Given the description of an element on the screen output the (x, y) to click on. 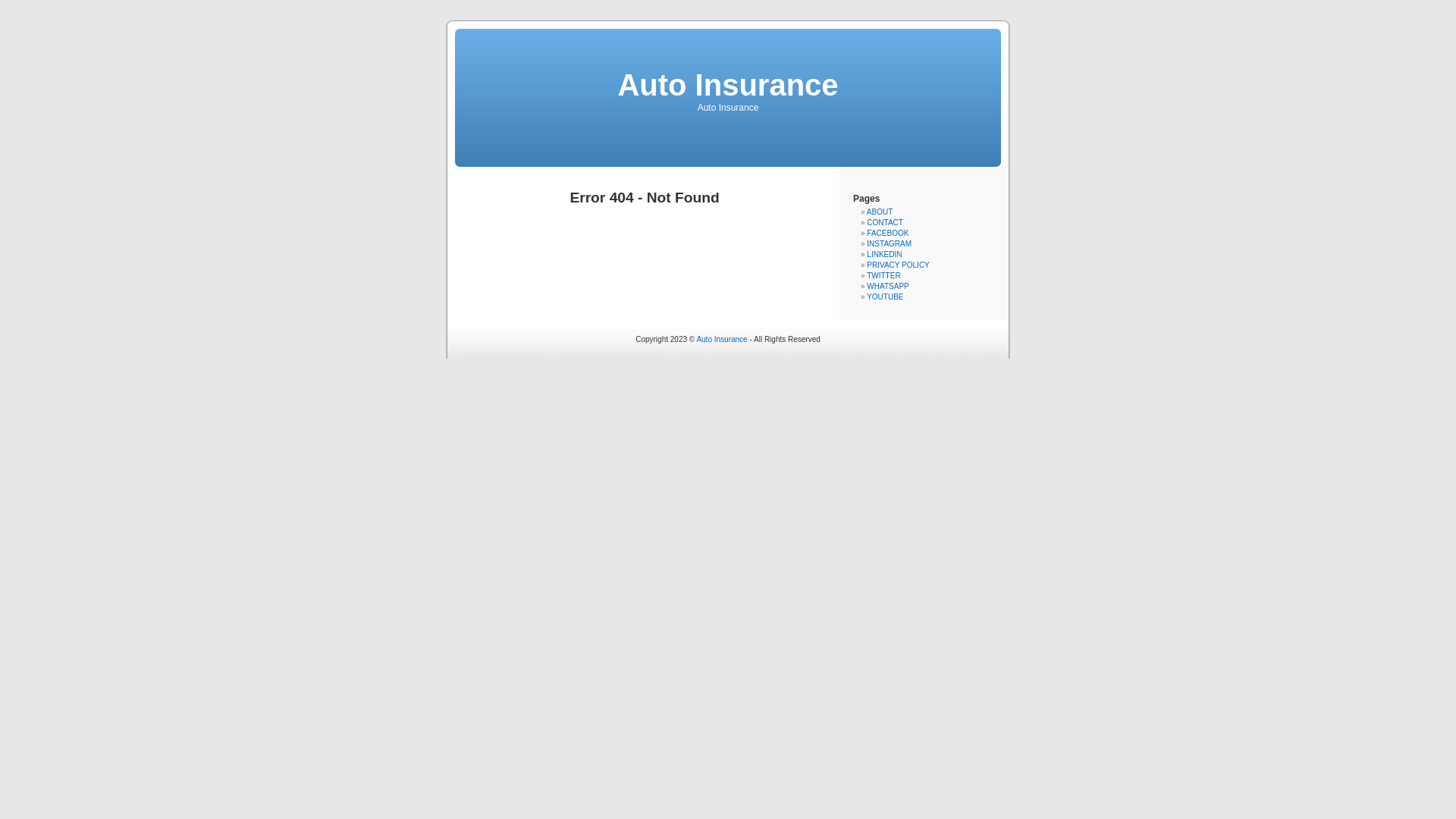
CONTACT Element type: text (884, 222)
WHATSAPP Element type: text (887, 286)
YOUTUBE Element type: text (884, 296)
PRIVACY POLICY Element type: text (897, 264)
Auto Insurance Element type: text (721, 339)
INSTAGRAM Element type: text (888, 243)
FACEBOOK Element type: text (887, 233)
TWITTER Element type: text (883, 275)
ABOUT Element type: text (879, 211)
LINKEDIN Element type: text (883, 254)
Auto Insurance Element type: text (727, 84)
